Given the description of an element on the screen output the (x, y) to click on. 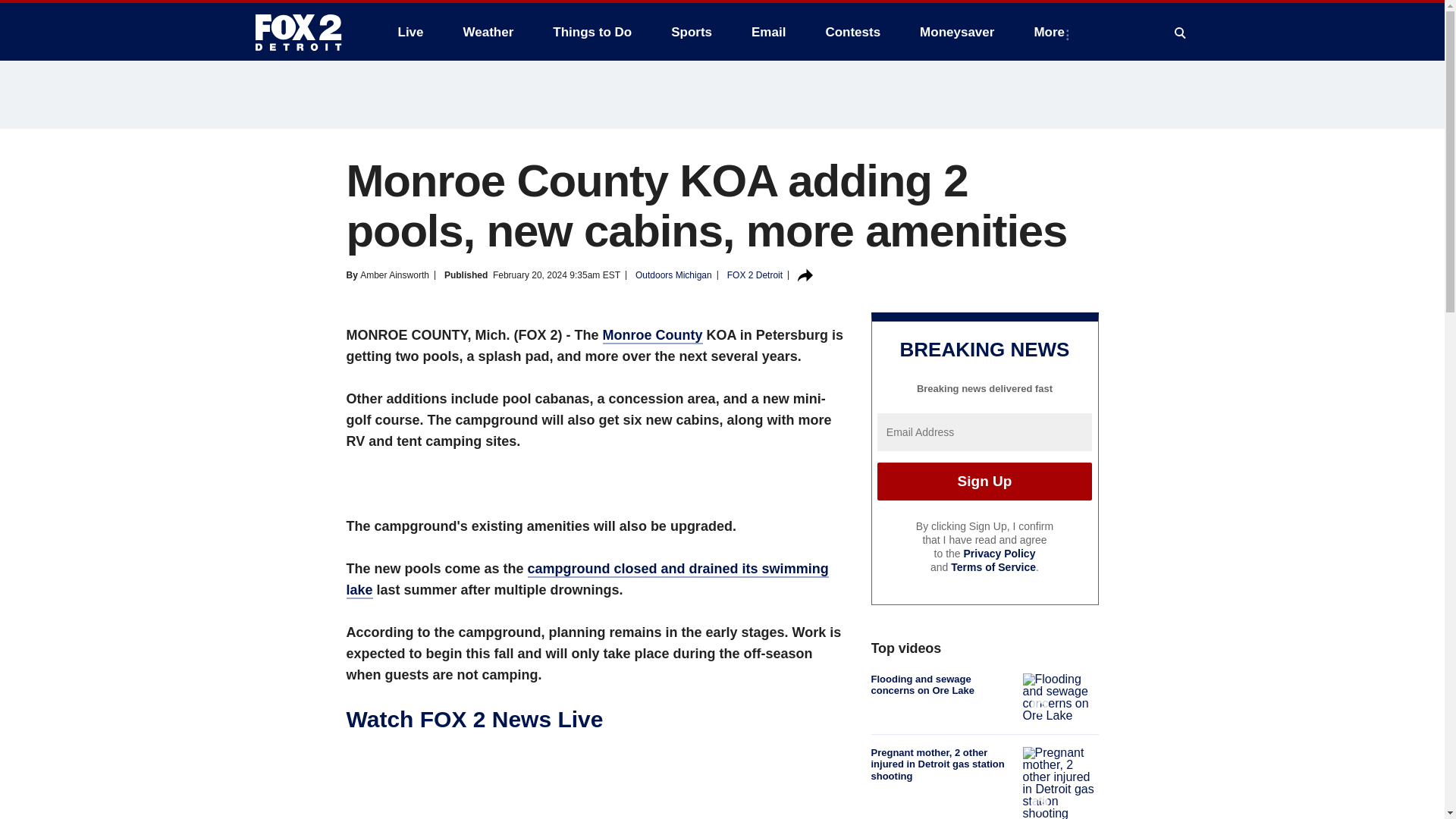
Sign Up (984, 481)
Moneysaver (956, 32)
Sports (691, 32)
Contests (852, 32)
More (1052, 32)
Email (768, 32)
Things to Do (591, 32)
Live (410, 32)
Weather (488, 32)
